Given the description of an element on the screen output the (x, y) to click on. 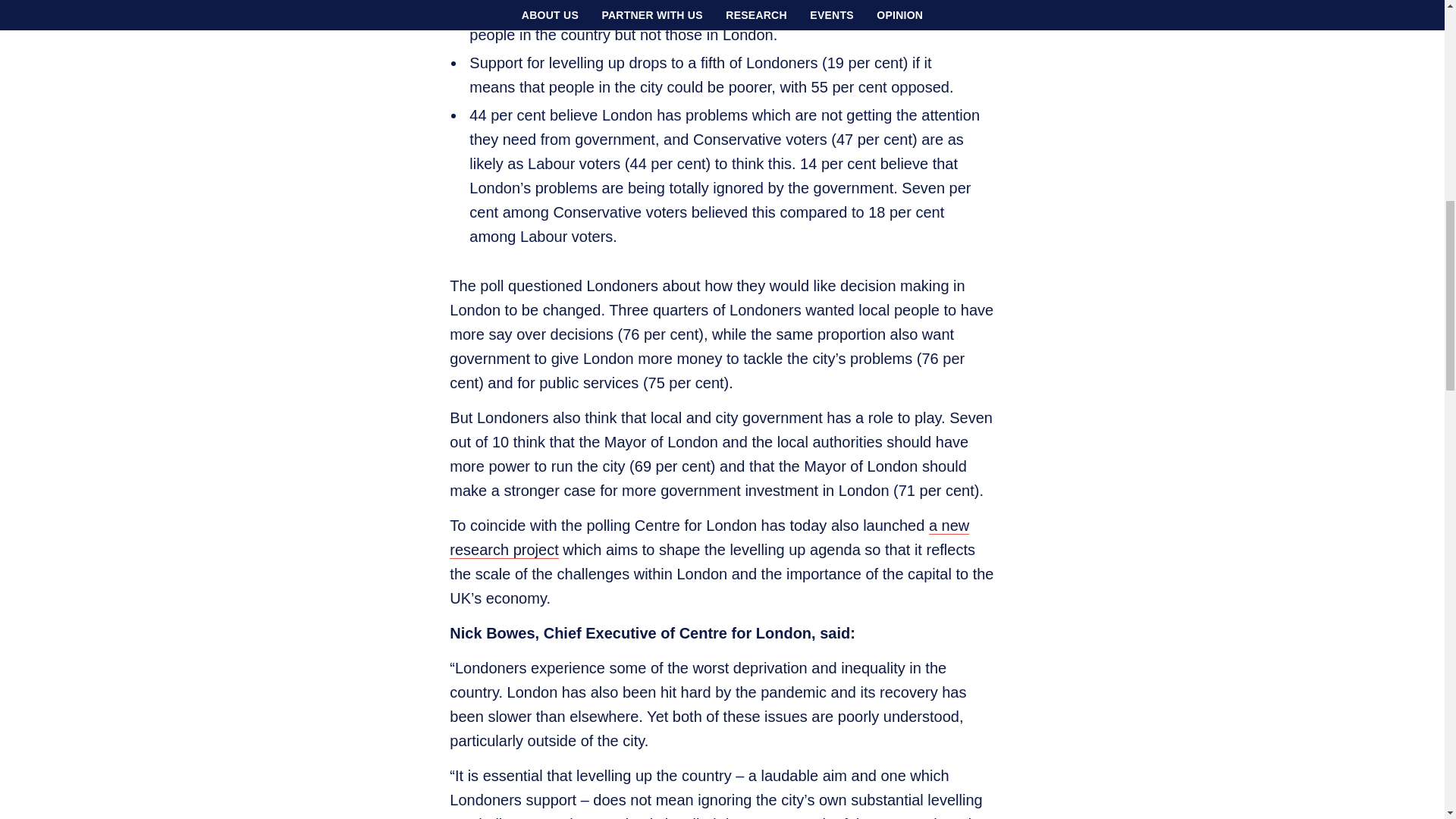
a new research project (709, 537)
